Given the description of an element on the screen output the (x, y) to click on. 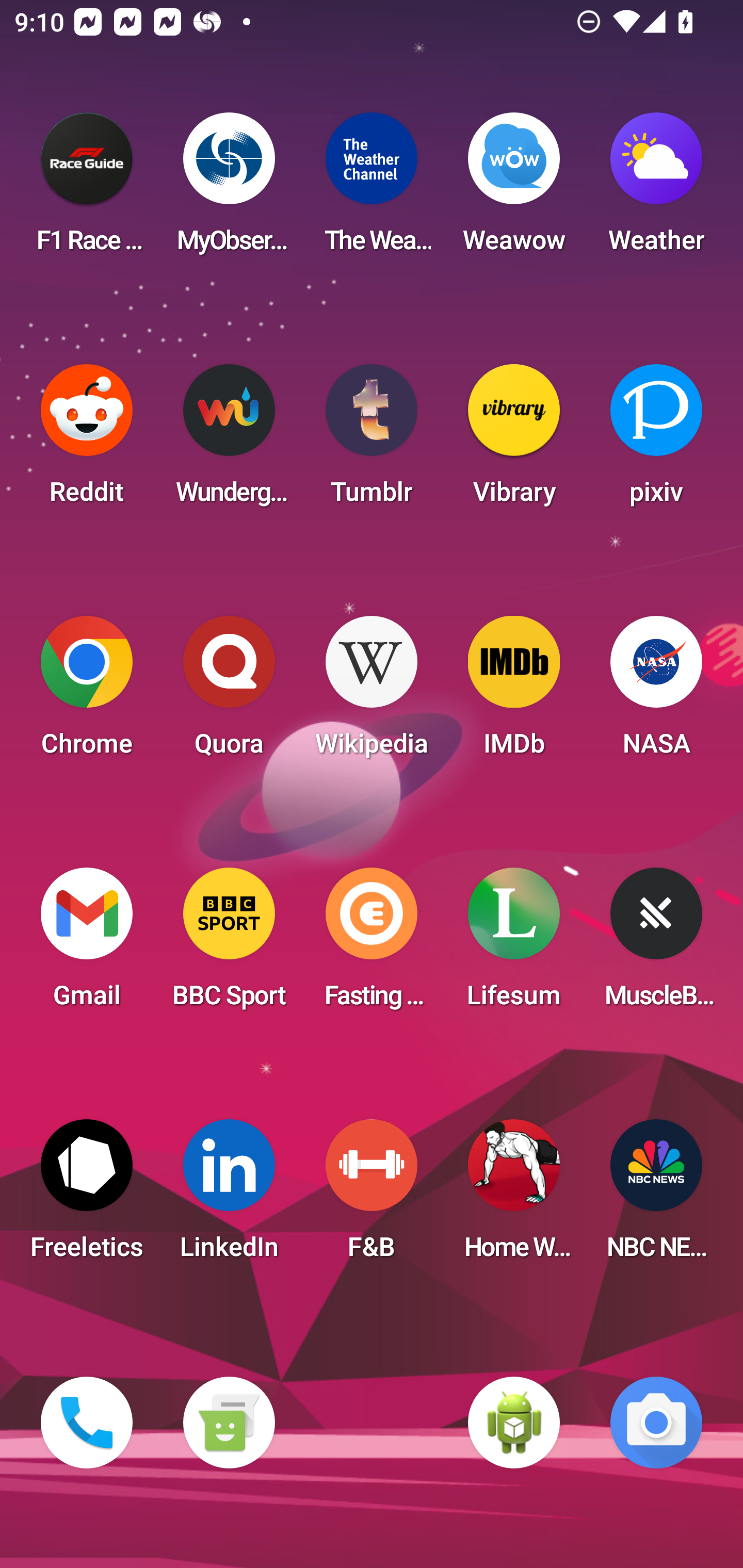
F1 Race Guide (86, 188)
MyObservatory (228, 188)
The Weather Channel (371, 188)
Weawow (513, 188)
Weather (656, 188)
Reddit (86, 440)
Wunderground (228, 440)
Tumblr (371, 440)
Vibrary (513, 440)
pixiv (656, 440)
Chrome (86, 692)
Quora (228, 692)
Wikipedia (371, 692)
IMDb (513, 692)
NASA (656, 692)
Gmail (86, 943)
BBC Sport (228, 943)
Fasting Coach (371, 943)
Lifesum (513, 943)
MuscleBooster (656, 943)
Freeletics (86, 1195)
LinkedIn (228, 1195)
F&B (371, 1195)
Home Workout (513, 1195)
NBC NEWS (656, 1195)
Phone (86, 1422)
Messaging (228, 1422)
WebView Browser Tester (513, 1422)
Camera (656, 1422)
